Given the description of an element on the screen output the (x, y) to click on. 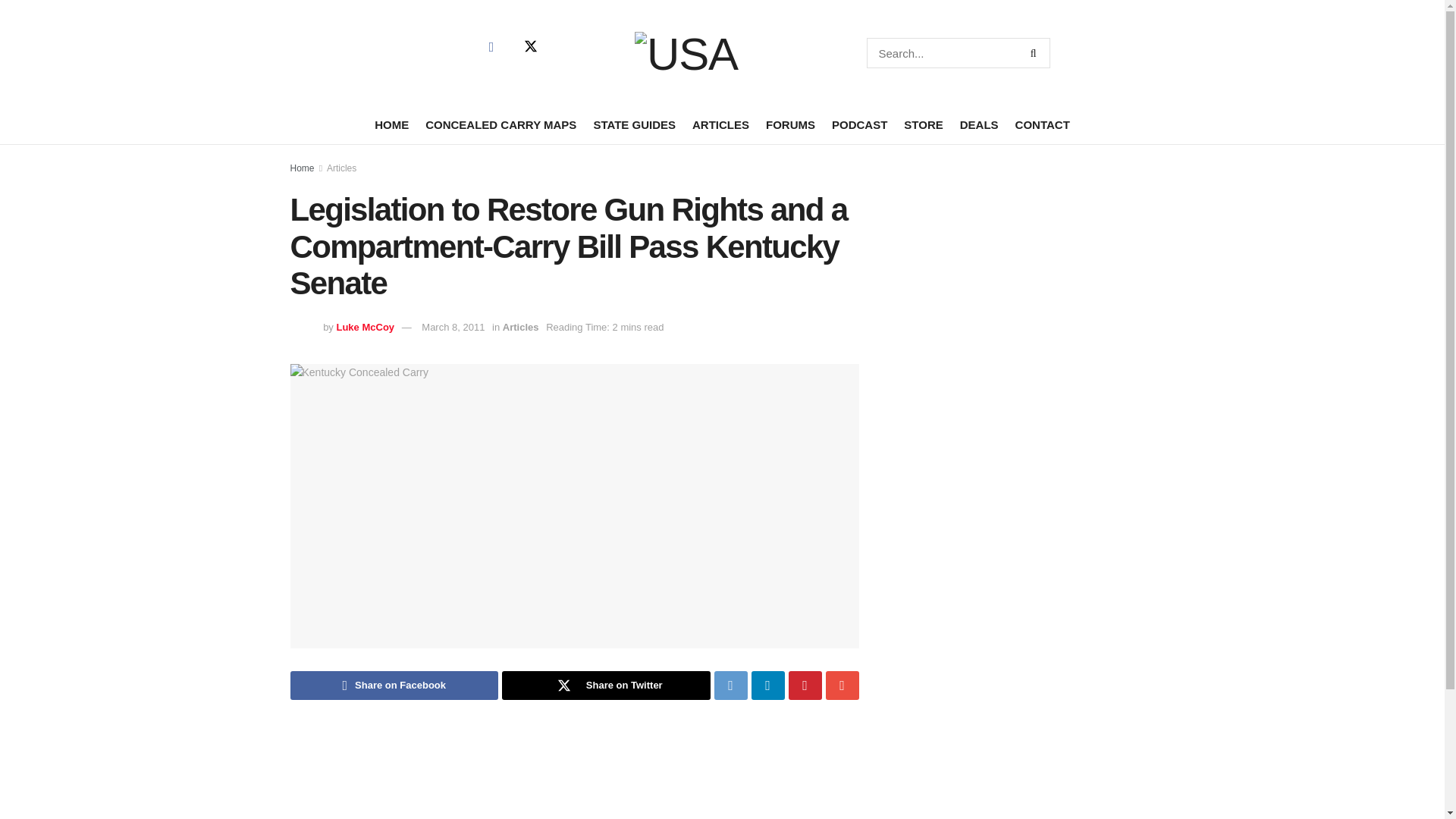
CONCEALED CARRY MAPS (500, 124)
HOME (391, 124)
State Concealed Carry Guides (633, 124)
STATE GUIDES (633, 124)
